Given the description of an element on the screen output the (x, y) to click on. 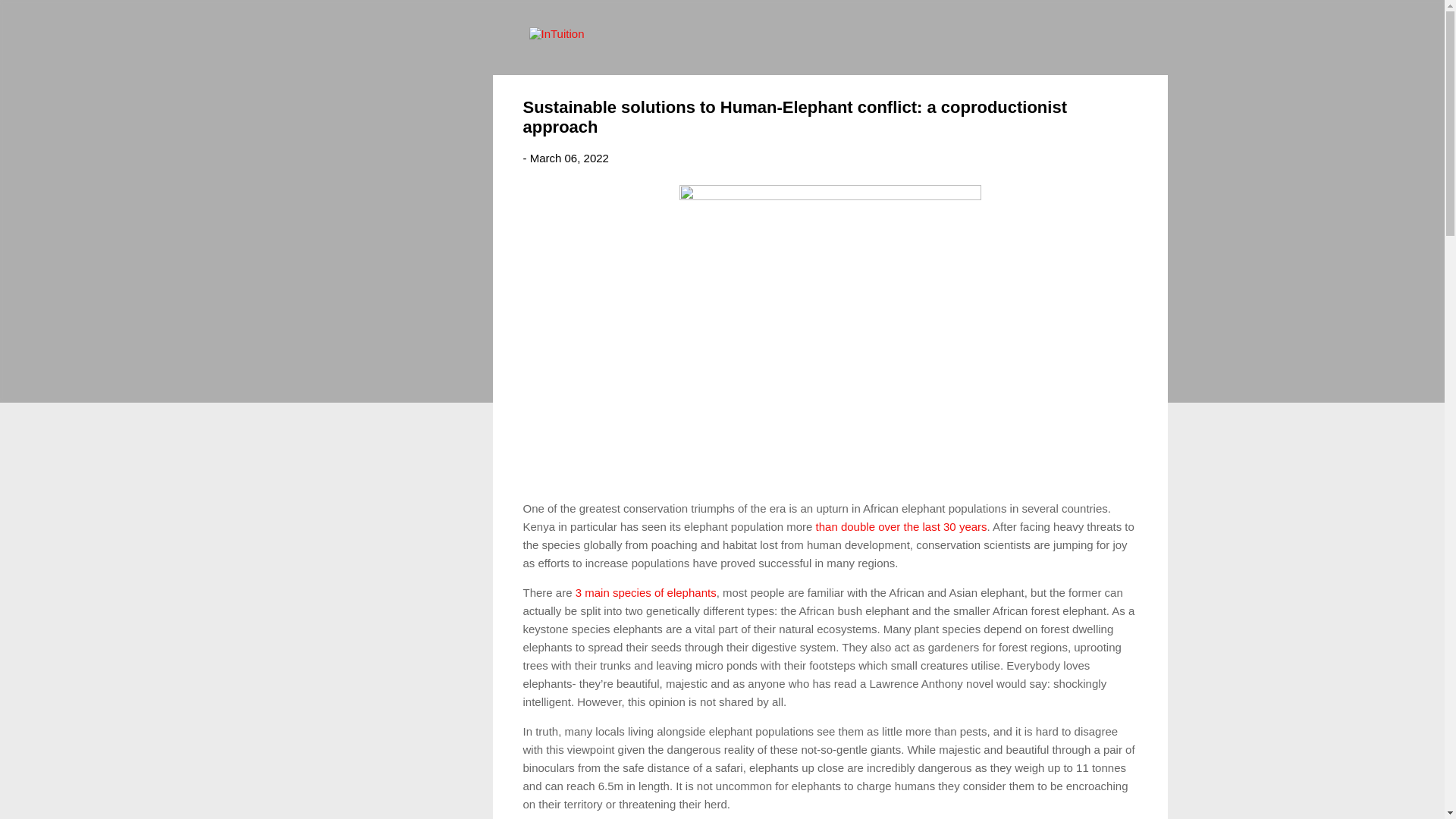
March 06, 2022 (568, 157)
permanent link (568, 157)
Search (29, 18)
3 main species of elephants (645, 591)
than double over the last 30 years (901, 526)
